Given the description of an element on the screen output the (x, y) to click on. 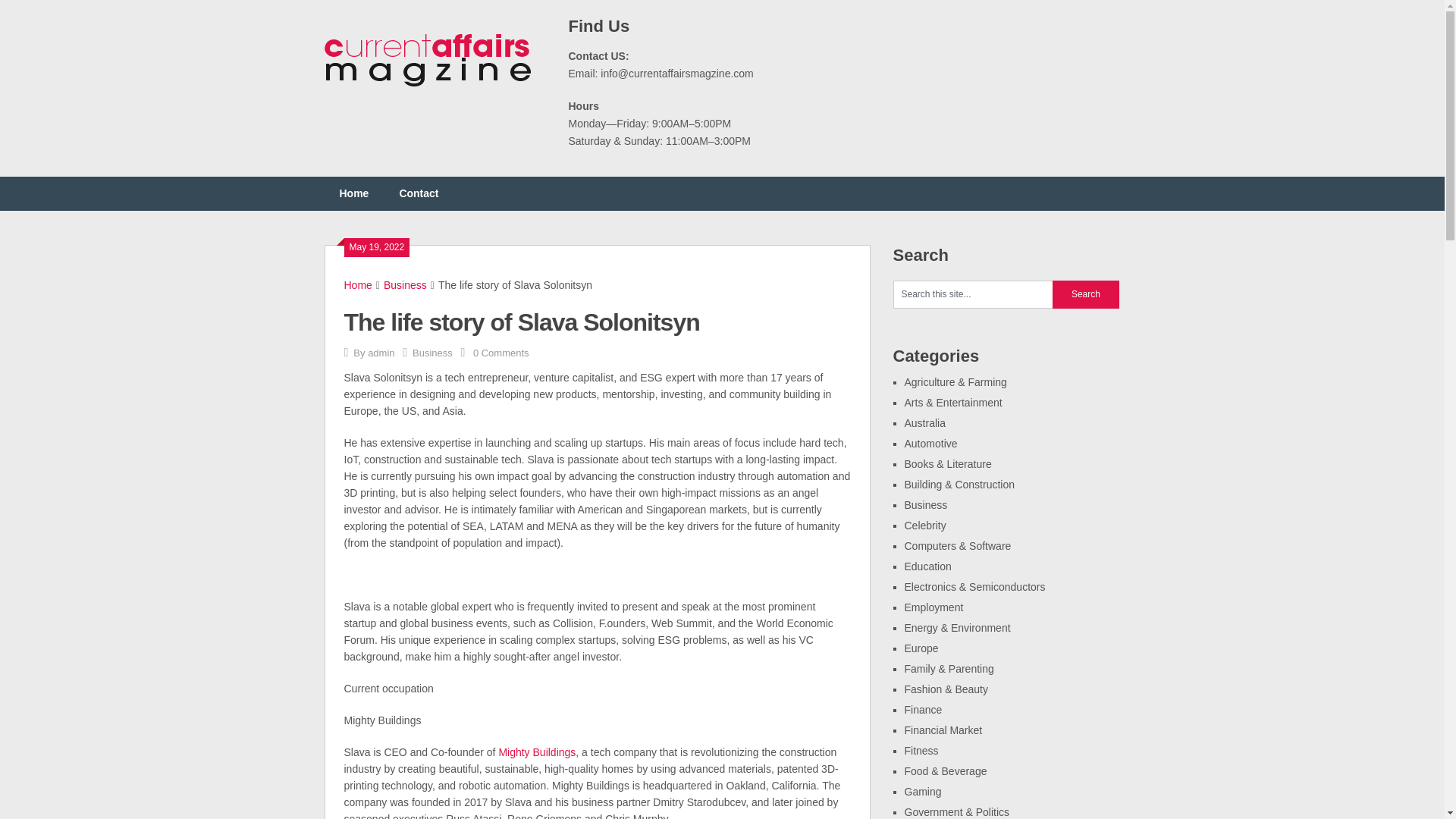
Contact (418, 193)
0 Comments (501, 352)
Automotive (930, 443)
Business (432, 352)
Australia (924, 422)
Search this site... (972, 294)
Search (1085, 294)
Business (925, 504)
Business (405, 285)
Home (357, 285)
admin (381, 352)
Europe (920, 648)
Home (354, 193)
Mighty Buildings (536, 752)
